Given the description of an element on the screen output the (x, y) to click on. 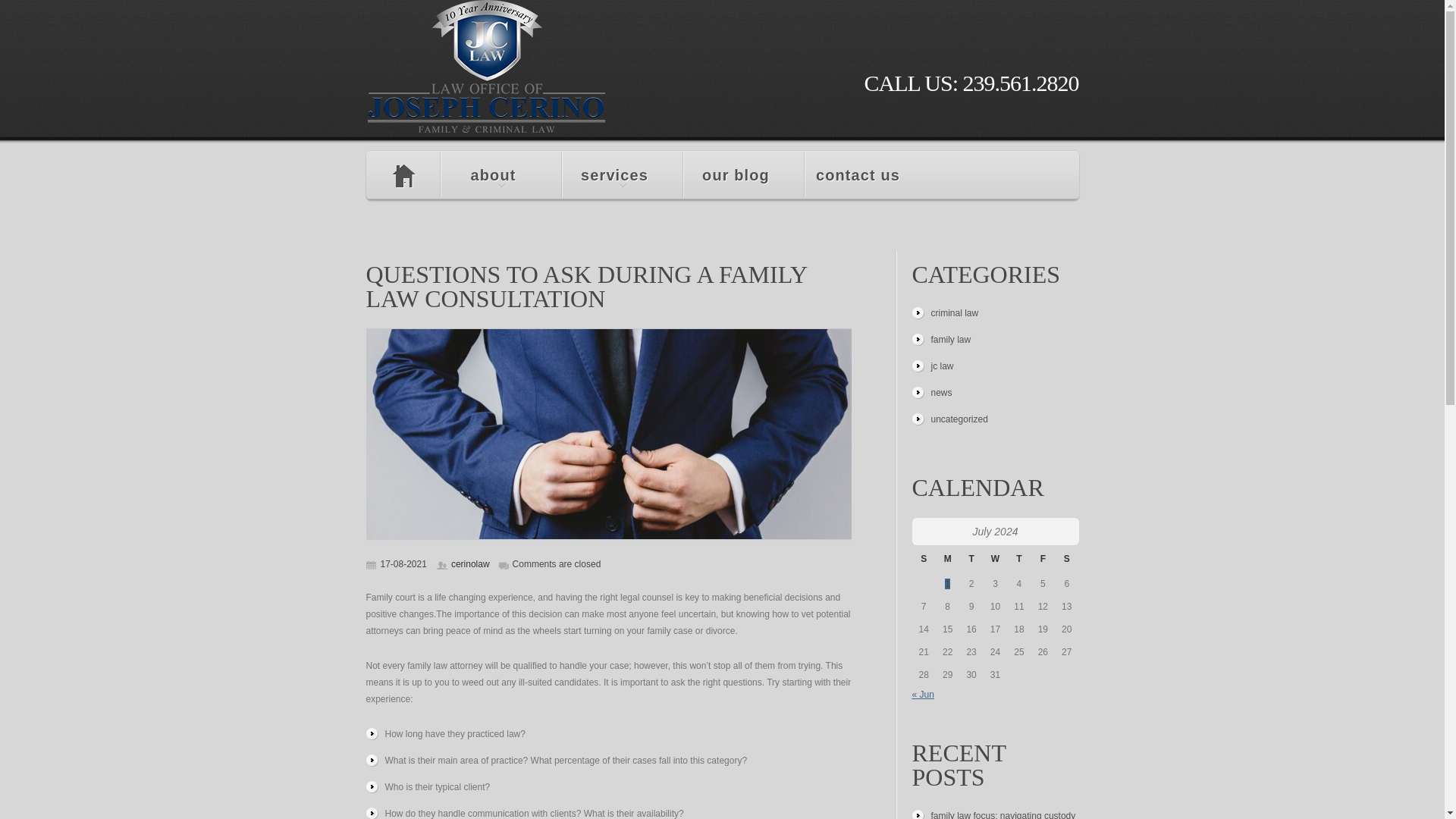
Posts by cerinolaw (470, 563)
cerinolaw (470, 563)
news (941, 392)
contact us (865, 174)
family law (951, 339)
criminal law (954, 312)
our blog (743, 174)
family law focus: navigating custody and visitation (1003, 814)
jc law (942, 366)
home (402, 174)
uncategorized (959, 419)
